Given the description of an element on the screen output the (x, y) to click on. 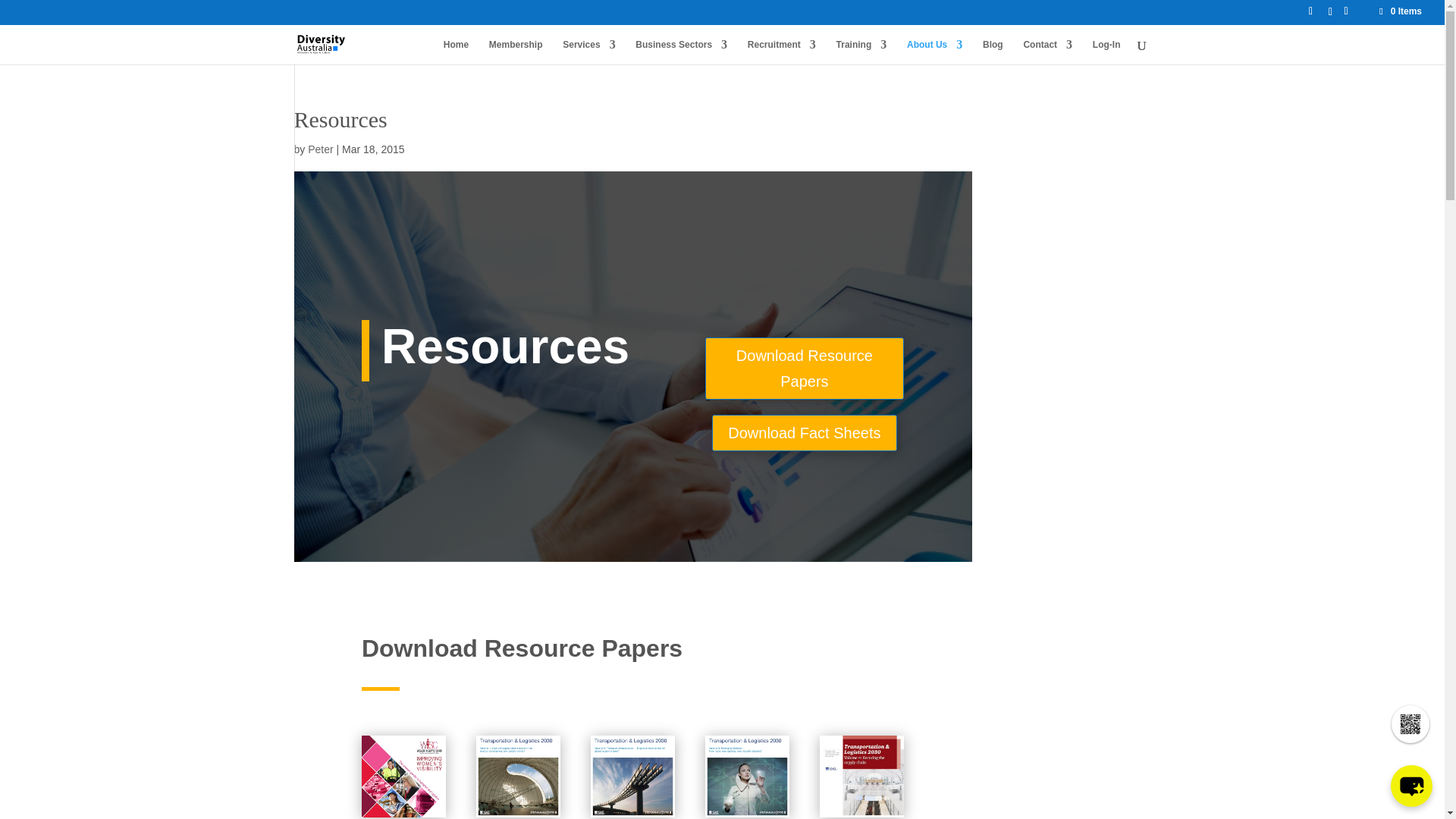
Business Sectors (680, 51)
Home (456, 51)
0 Items (1399, 10)
Download Women In Supply Chain PDF (403, 776)
Training (860, 51)
Posts by Peter (320, 148)
Services (588, 51)
Recruitment (781, 51)
Membership (516, 51)
